Given the description of an element on the screen output the (x, y) to click on. 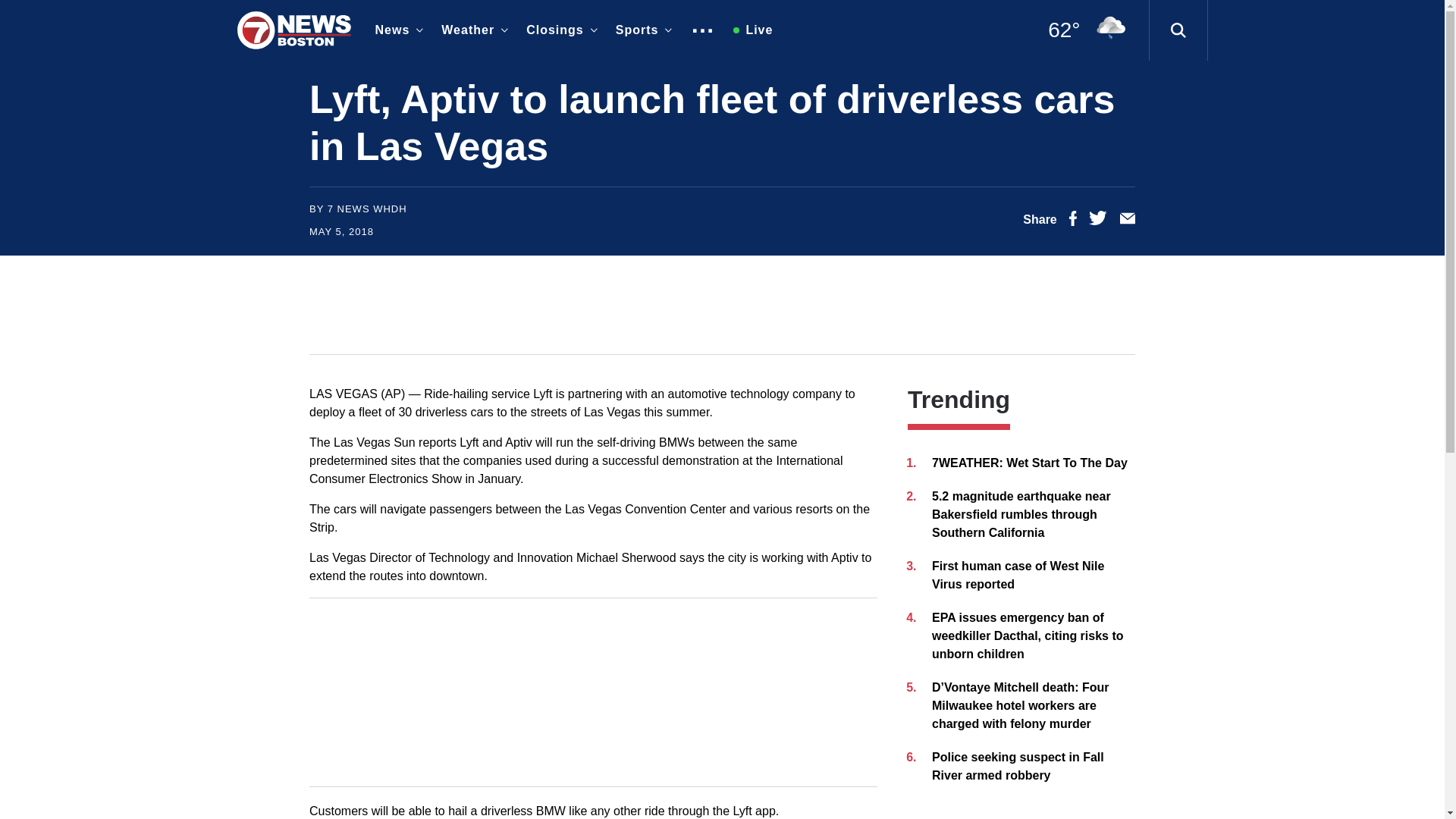
Closings (558, 30)
Email (1127, 221)
Twitter (1098, 221)
News (395, 30)
Weather (471, 30)
Posts by 7 News WHDH (367, 208)
May 5, 2018 (341, 231)
Sports (641, 30)
